Given the description of an element on the screen output the (x, y) to click on. 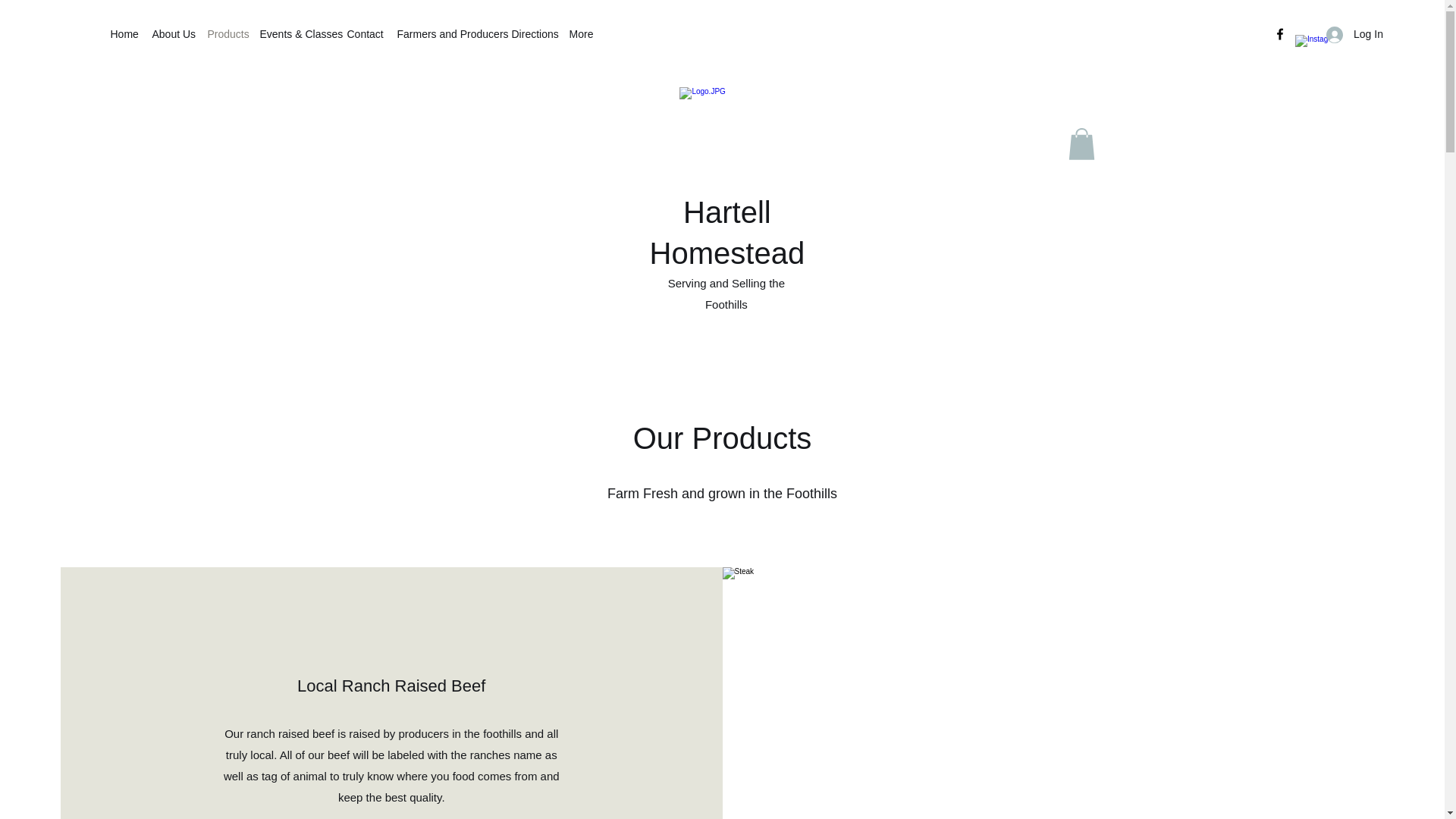
Log In (1350, 34)
Directions (531, 33)
Farmers and Producers (446, 33)
Hartell Homestead (727, 232)
About Us (171, 33)
Contact (364, 33)
Home (123, 33)
Products (225, 33)
